Given the description of an element on the screen output the (x, y) to click on. 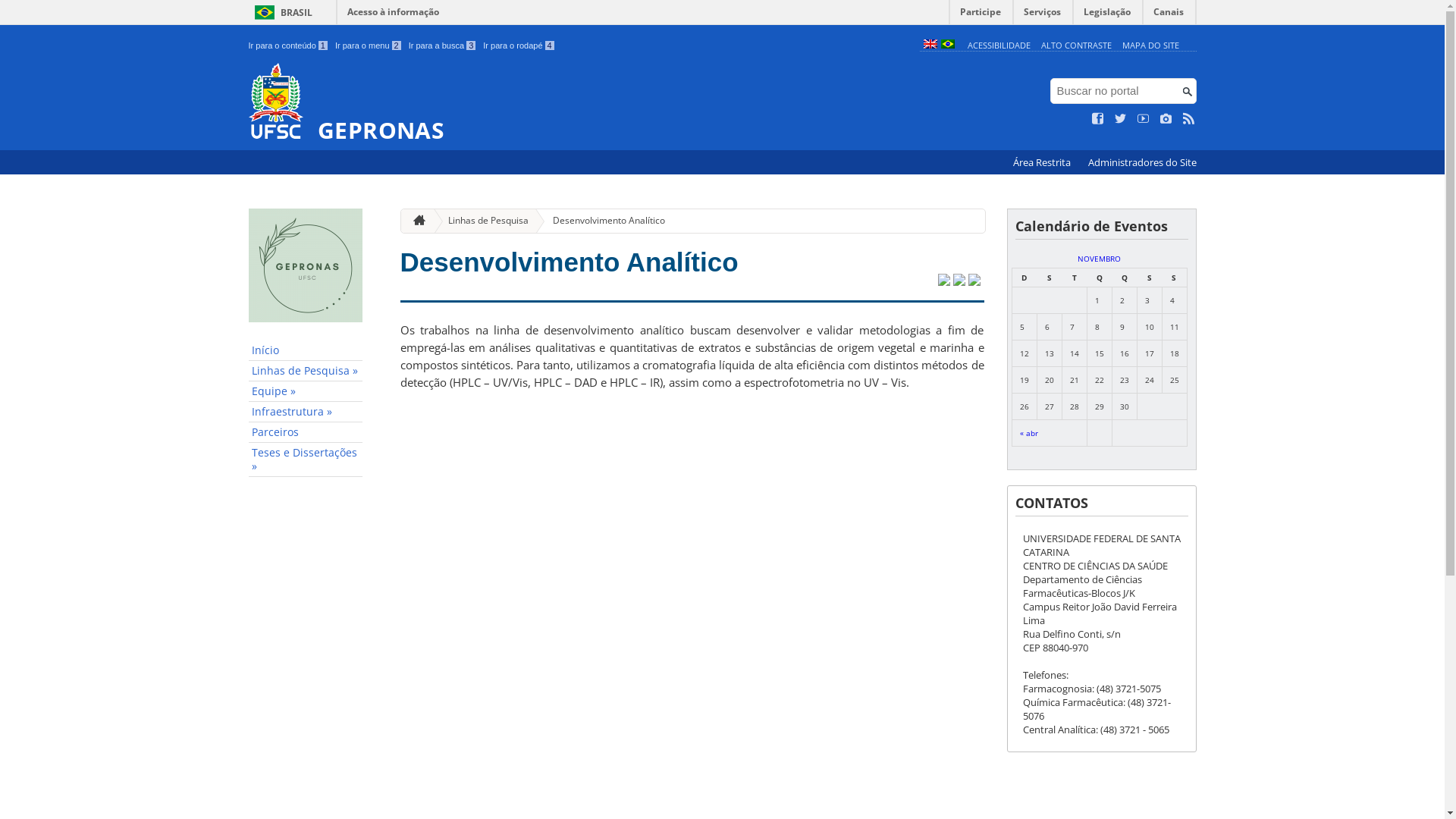
MAPA DO SITE Element type: text (1150, 44)
Compartilhar no Facebook Element type: hover (958, 280)
Linhas de Pesquisa Element type: text (481, 220)
ALTO CONTRASTE Element type: text (1076, 44)
English (en) Element type: hover (930, 44)
ACESSIBILIDADE Element type: text (998, 44)
Compartilhar no Twitter Element type: hover (943, 280)
Siga no Twitter Element type: hover (1120, 118)
Participe Element type: text (980, 15)
NOVEMBRO Element type: text (1098, 258)
Veja no Instagram Element type: hover (1166, 118)
GEPRONAS Element type: text (580, 102)
BRASIL Element type: text (280, 12)
Ir para o menu 2 Element type: text (368, 45)
Parceiros Element type: text (305, 432)
Ir para a busca 3 Element type: text (442, 45)
Administradores do Site Element type: text (1141, 162)
Canais Element type: text (1169, 15)
Curta no Facebook Element type: hover (1098, 118)
Compartilhar no WhatsApp Element type: hover (973, 280)
